Given the description of an element on the screen output the (x, y) to click on. 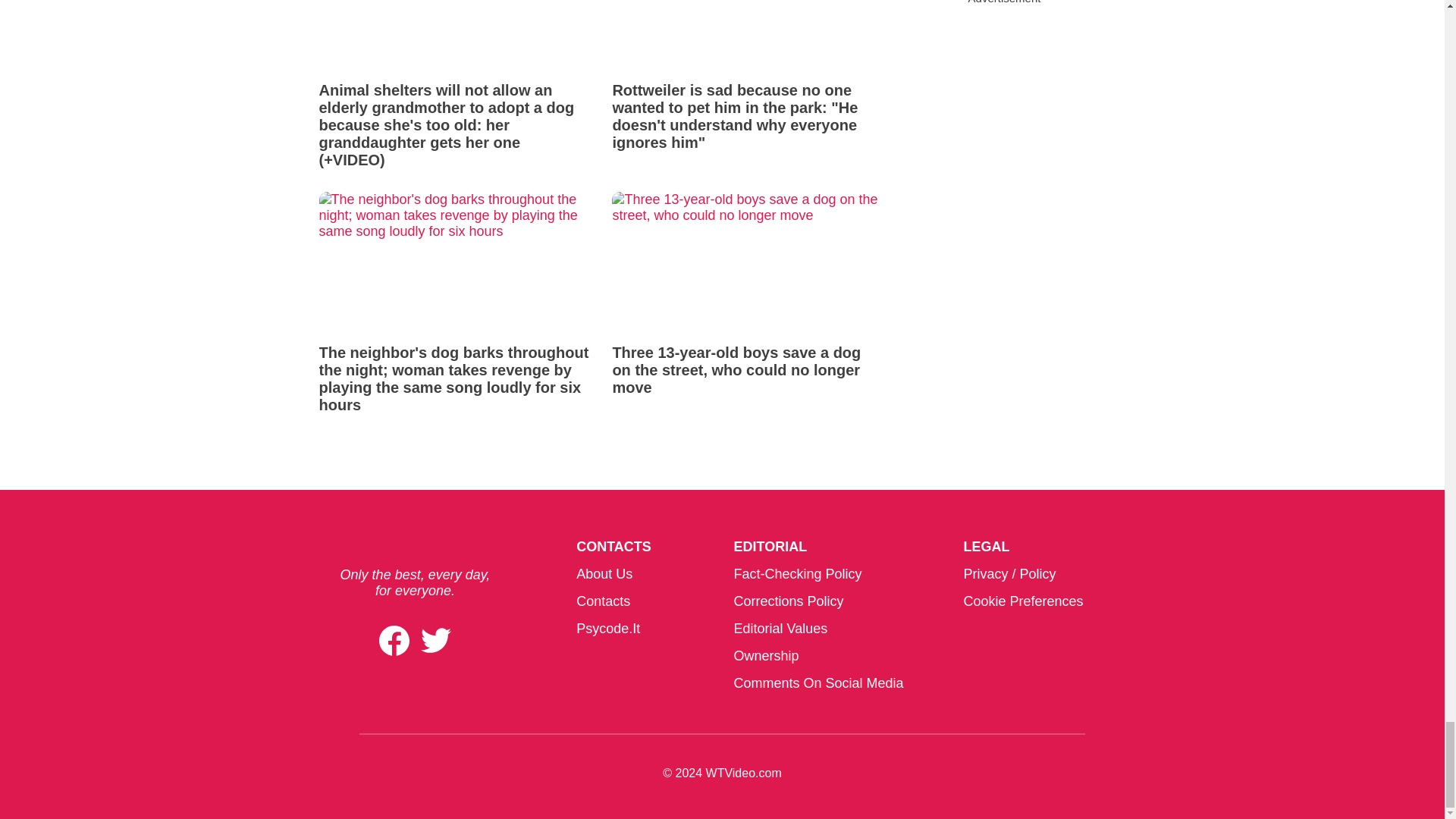
Ownership (765, 655)
Corrections Policy (788, 601)
Psycode.It (608, 628)
Contacts (603, 601)
Editorial Values (780, 628)
About Us (603, 573)
Cookie Preferences (1022, 601)
Comments On Social Media (817, 683)
Fact-Checking Policy (797, 573)
